Given the description of an element on the screen output the (x, y) to click on. 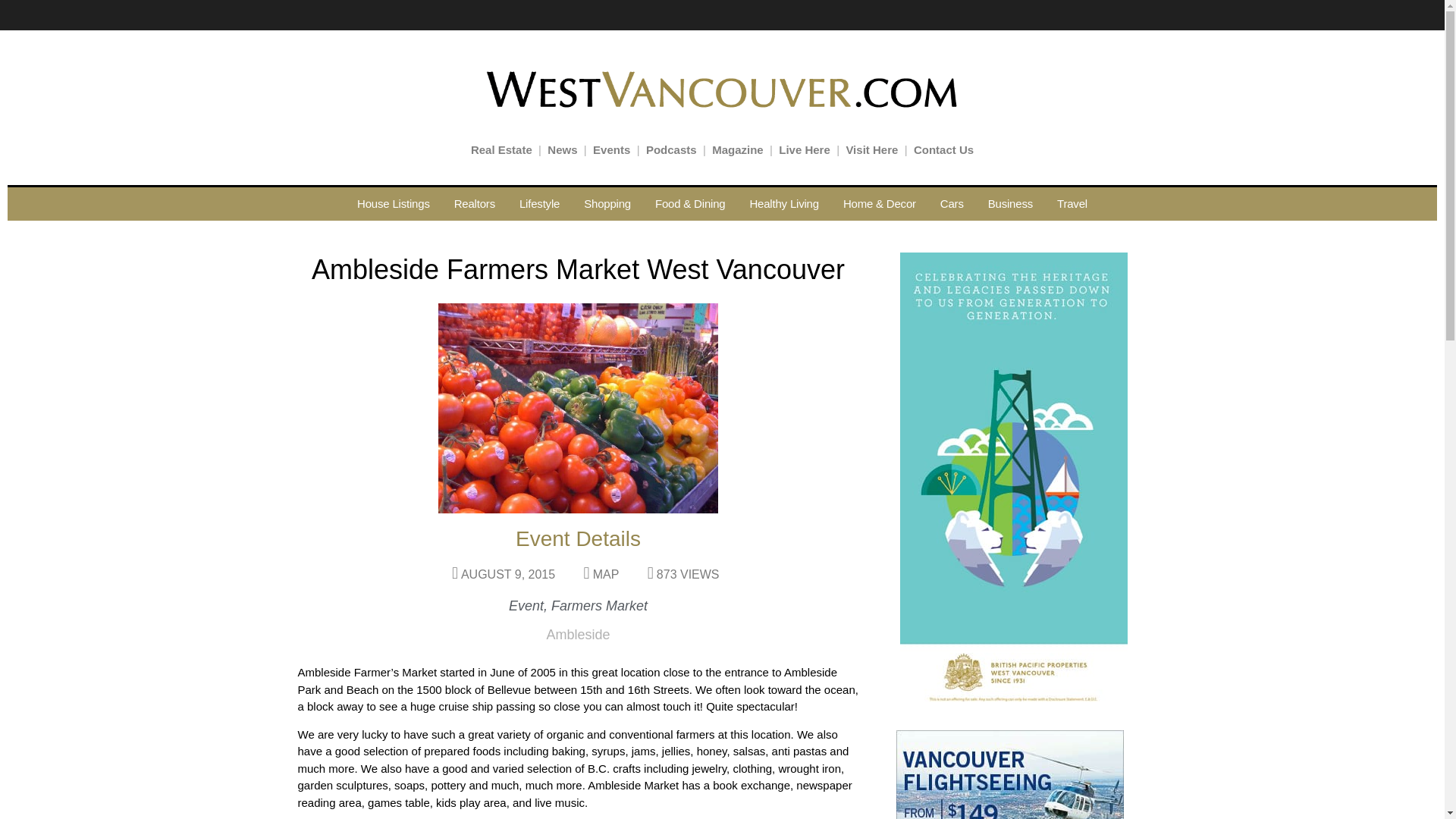
Real Estate (501, 149)
Shopping (607, 203)
Magazine (736, 149)
Healthy Living (782, 203)
Events (611, 149)
Contact Us (944, 149)
Realtors (474, 203)
Live Here (803, 149)
Lifestyle (539, 203)
News (561, 149)
